Given the description of an element on the screen output the (x, y) to click on. 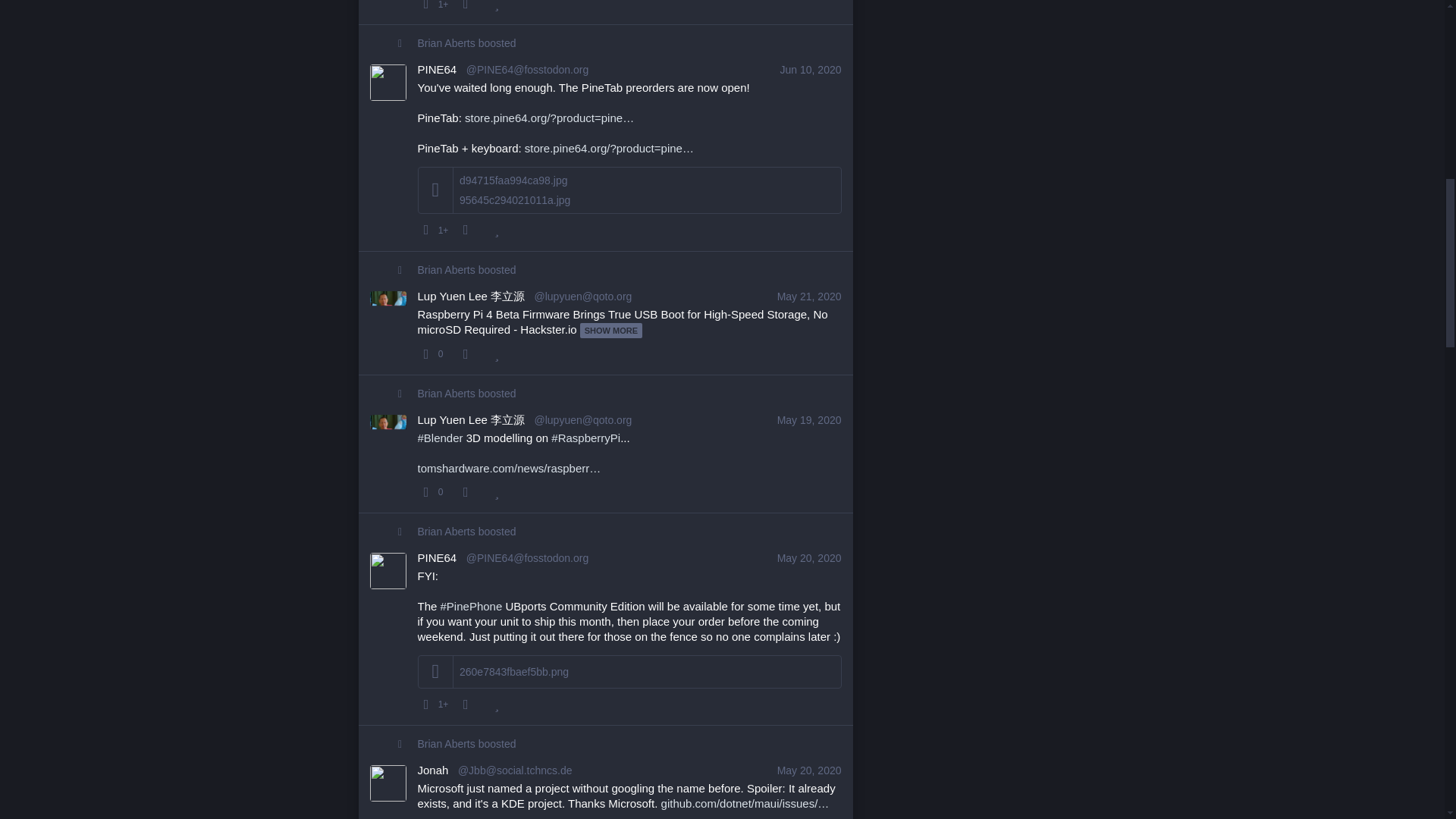
May 20, 2020 at 12:59 AM (809, 558)
May 19, 2020 at 9:12 PM (809, 419)
June 10, 2020 at 2:27 PM (810, 69)
Jun 10, 2020 (810, 69)
Brian Aberts (446, 42)
May 21, 2020 at 2:32 PM (809, 296)
May 20, 2020 at 4:10 AM (809, 770)
95645c294021011a.jpg (515, 200)
d94715faa994ca98.jpg (513, 180)
